Given the description of an element on the screen output the (x, y) to click on. 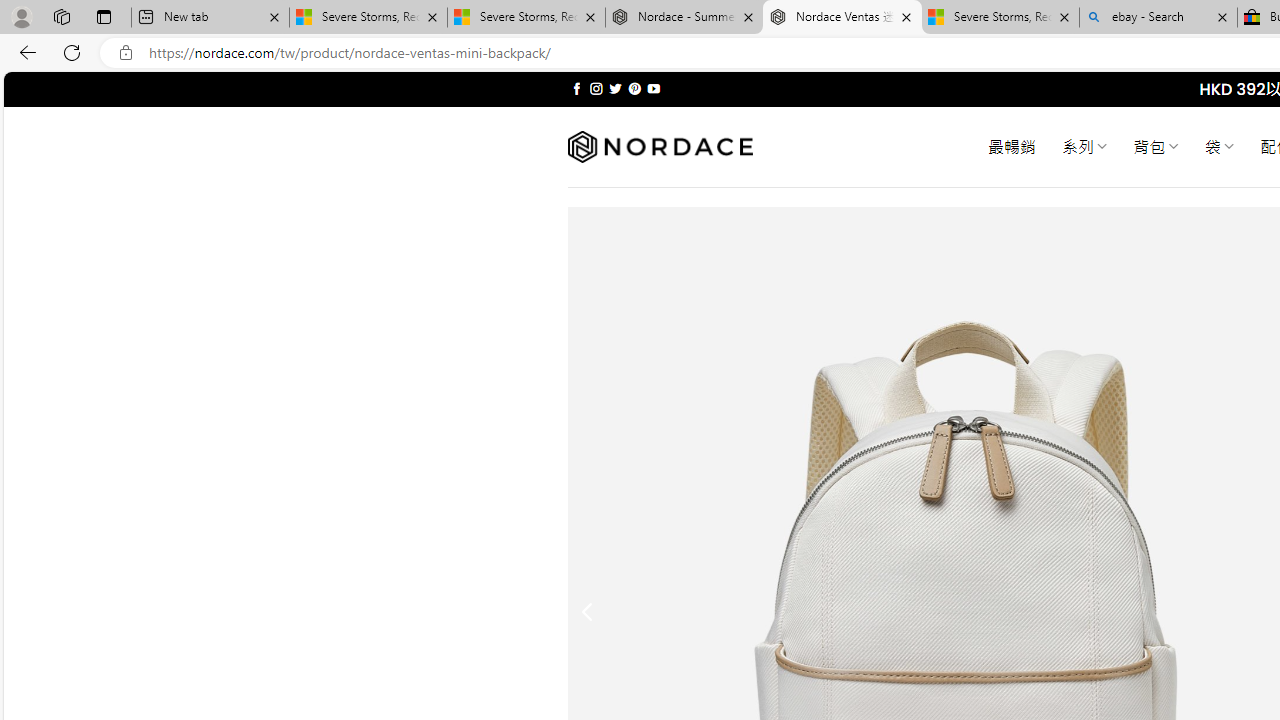
Follow on Instagram (596, 88)
